Given the description of an element on the screen output the (x, y) to click on. 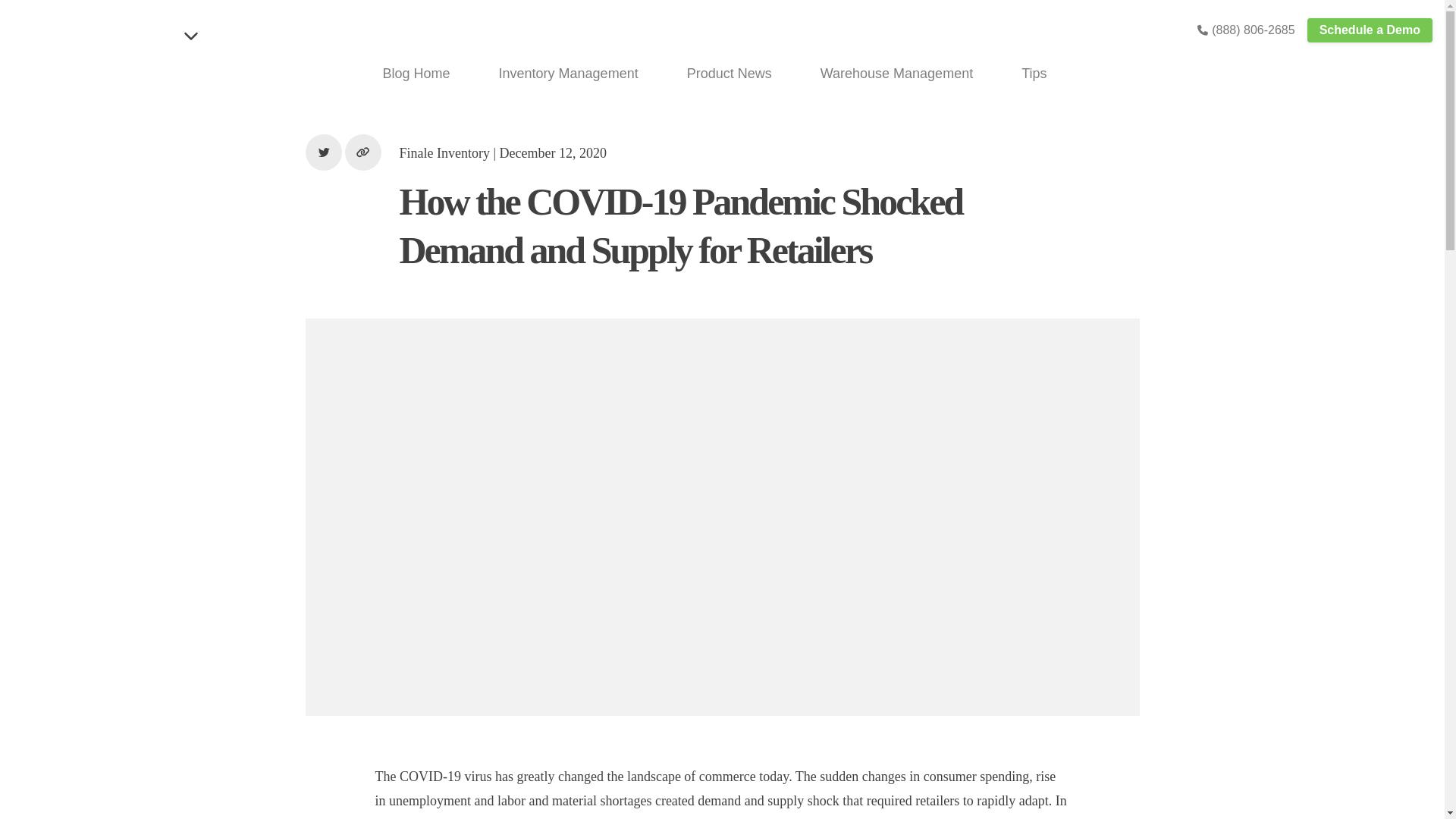
Copy link to clipboard (361, 152)
Warehouse Management (884, 73)
Schedule a Demo (1369, 30)
Blog Home (403, 73)
Product News (716, 73)
Inventory Management (556, 73)
Tips (1021, 73)
